Given the description of an element on the screen output the (x, y) to click on. 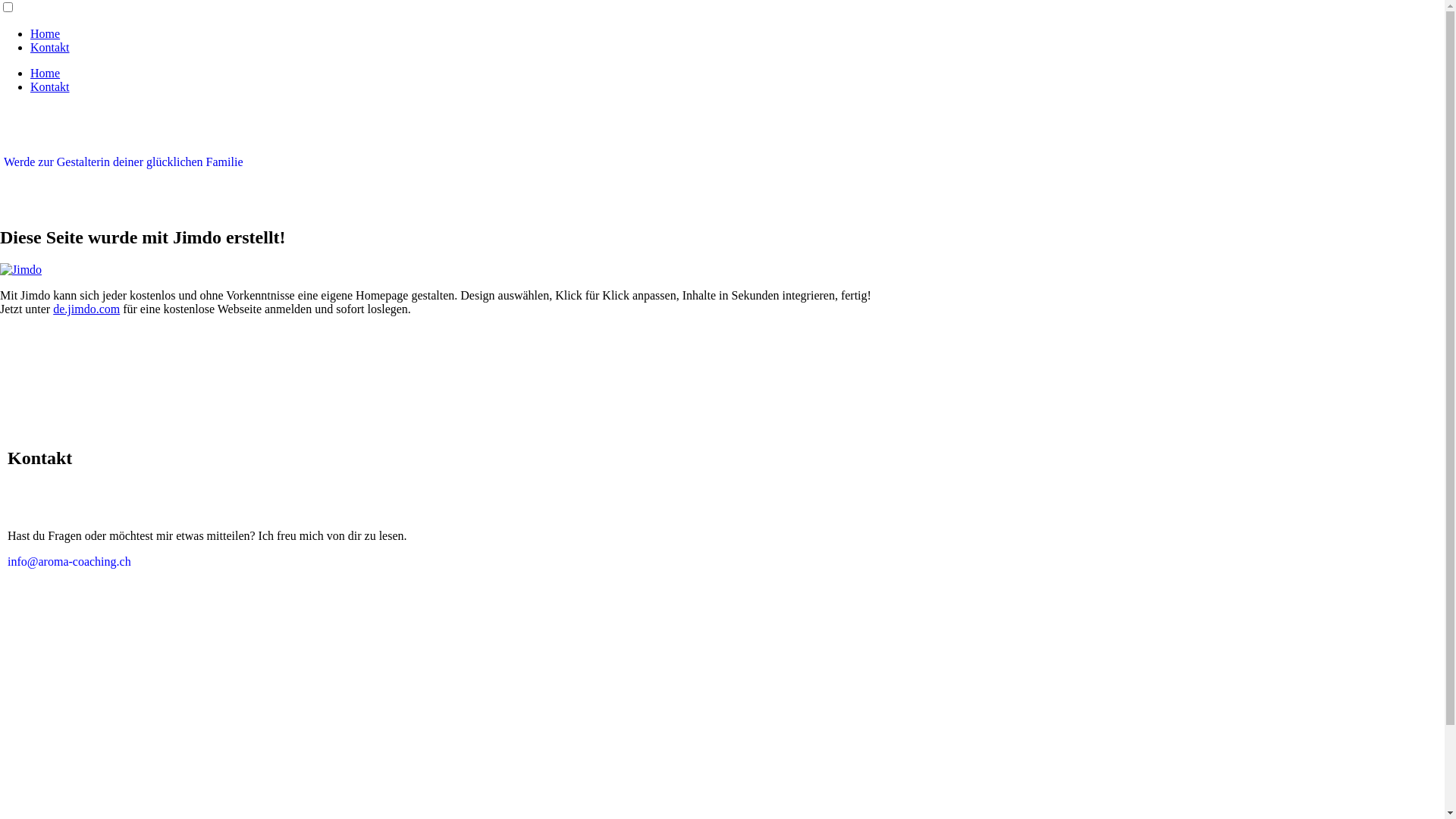
Kontakt Element type: text (49, 86)
Home Element type: text (44, 72)
Kontakt Element type: text (49, 46)
Home Element type: text (44, 33)
de.jimdo.com Element type: text (86, 308)
Jimdo Element type: hover (20, 269)
